Given the description of an element on the screen output the (x, y) to click on. 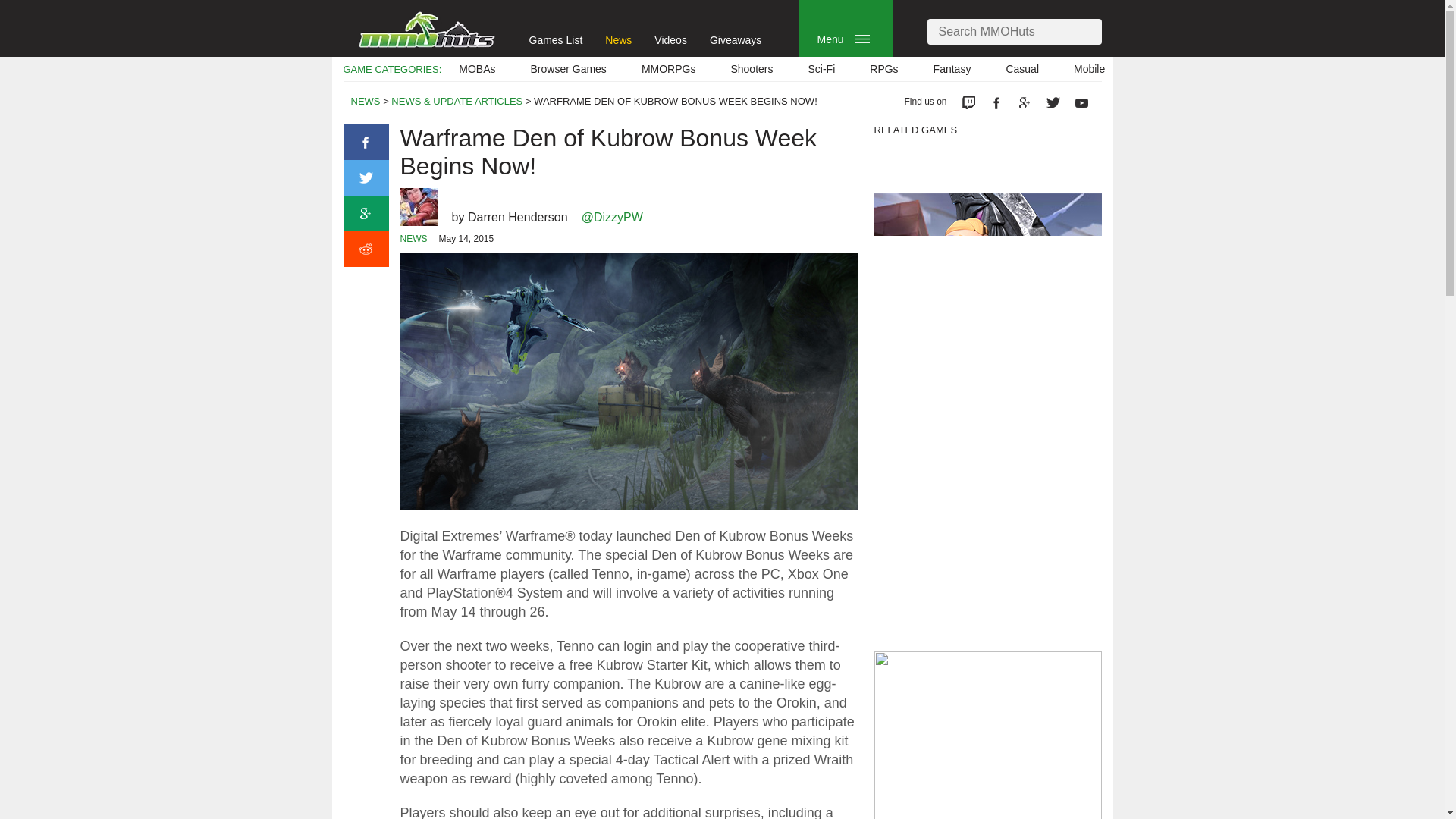
Visit the MOBA Games List (476, 69)
Go to All Videos (670, 39)
Go to MMOHuts.com (426, 29)
Casual (1022, 69)
Games List (556, 39)
Main Menu (862, 39)
Mobile (1089, 69)
News (618, 39)
NEWS (365, 101)
Giveaways (735, 39)
